Given the description of an element on the screen output the (x, y) to click on. 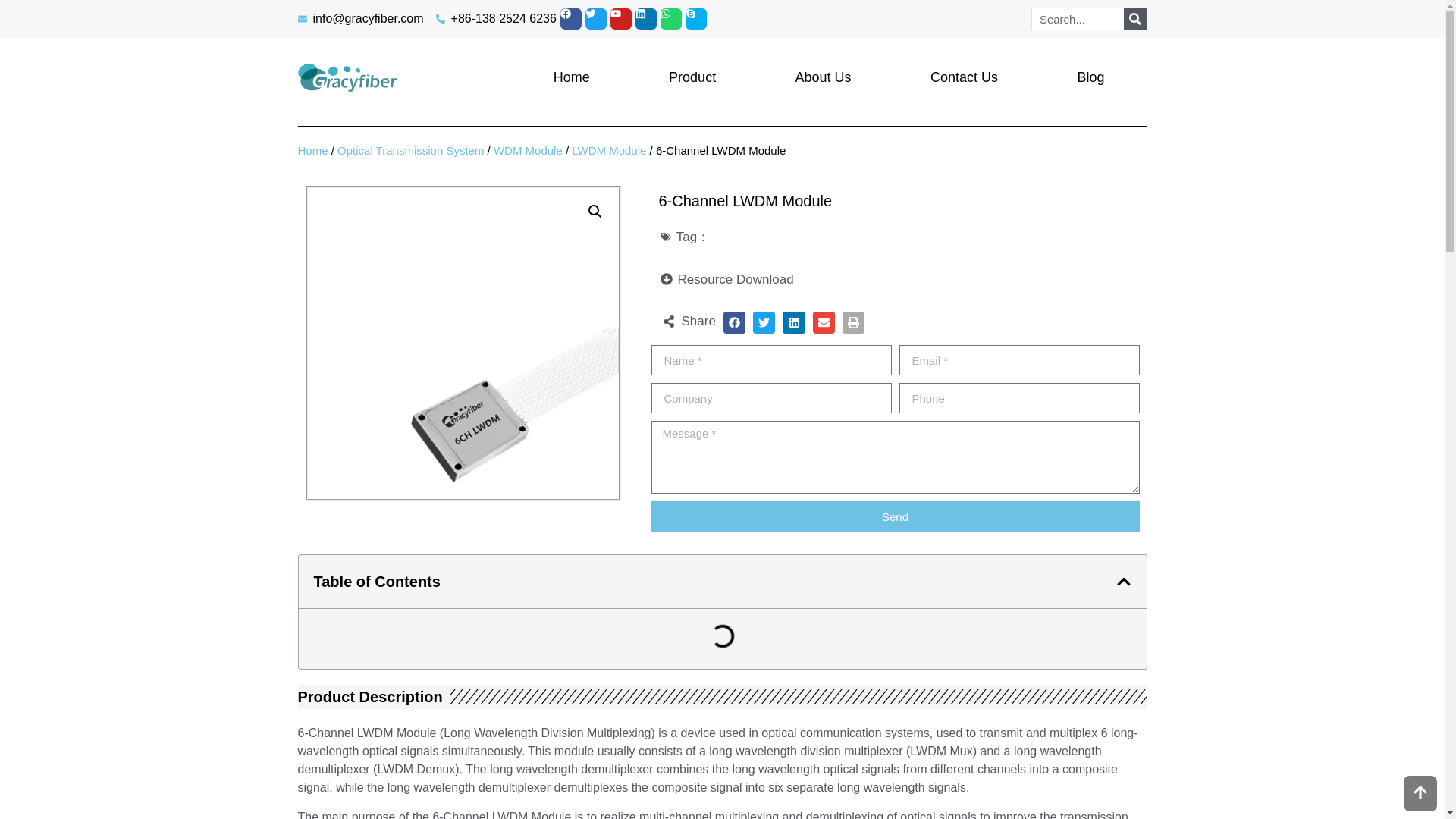
Home (312, 150)
Product (691, 77)
Blog (1089, 77)
6-Channel LWDM Module (462, 343)
About Us (822, 77)
WDM Module (527, 150)
LWDM Module (609, 150)
Send (894, 516)
Contact Us (963, 77)
Optical Transmission System (410, 150)
